Given the description of an element on the screen output the (x, y) to click on. 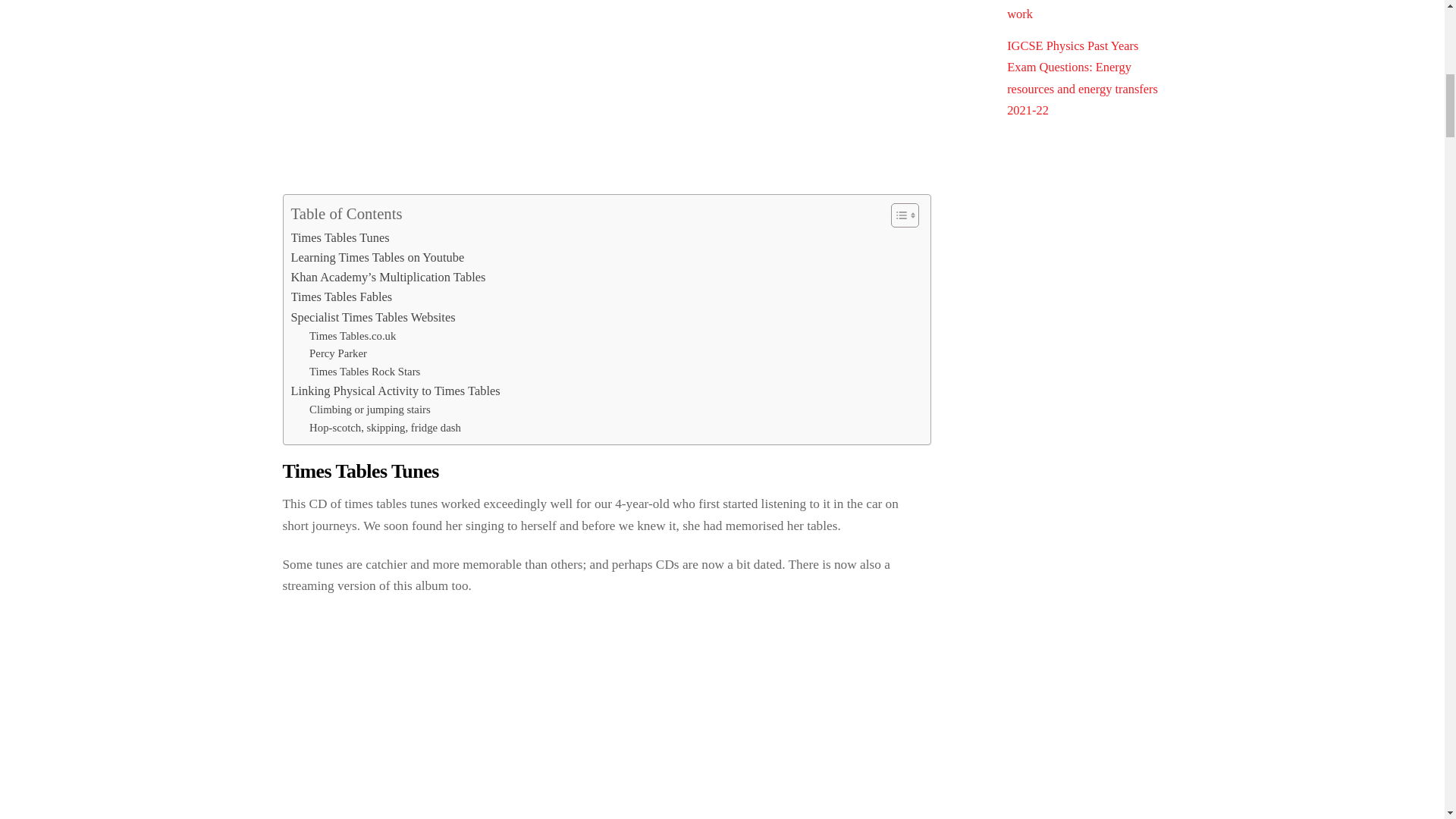
Specialist Times Tables Websites (373, 317)
Times Tables Rock Stars (364, 372)
Learning Times Tables on Youtube (377, 257)
Learning Times Tables on Youtube (377, 257)
Times Tables Tunes (340, 237)
Percy Parker (337, 353)
Times Tables Fables (342, 297)
Times Tables Tunes (340, 237)
Times Tables.co.uk (352, 336)
Specialist Times Tables Websites (373, 317)
